Given the description of an element on the screen output the (x, y) to click on. 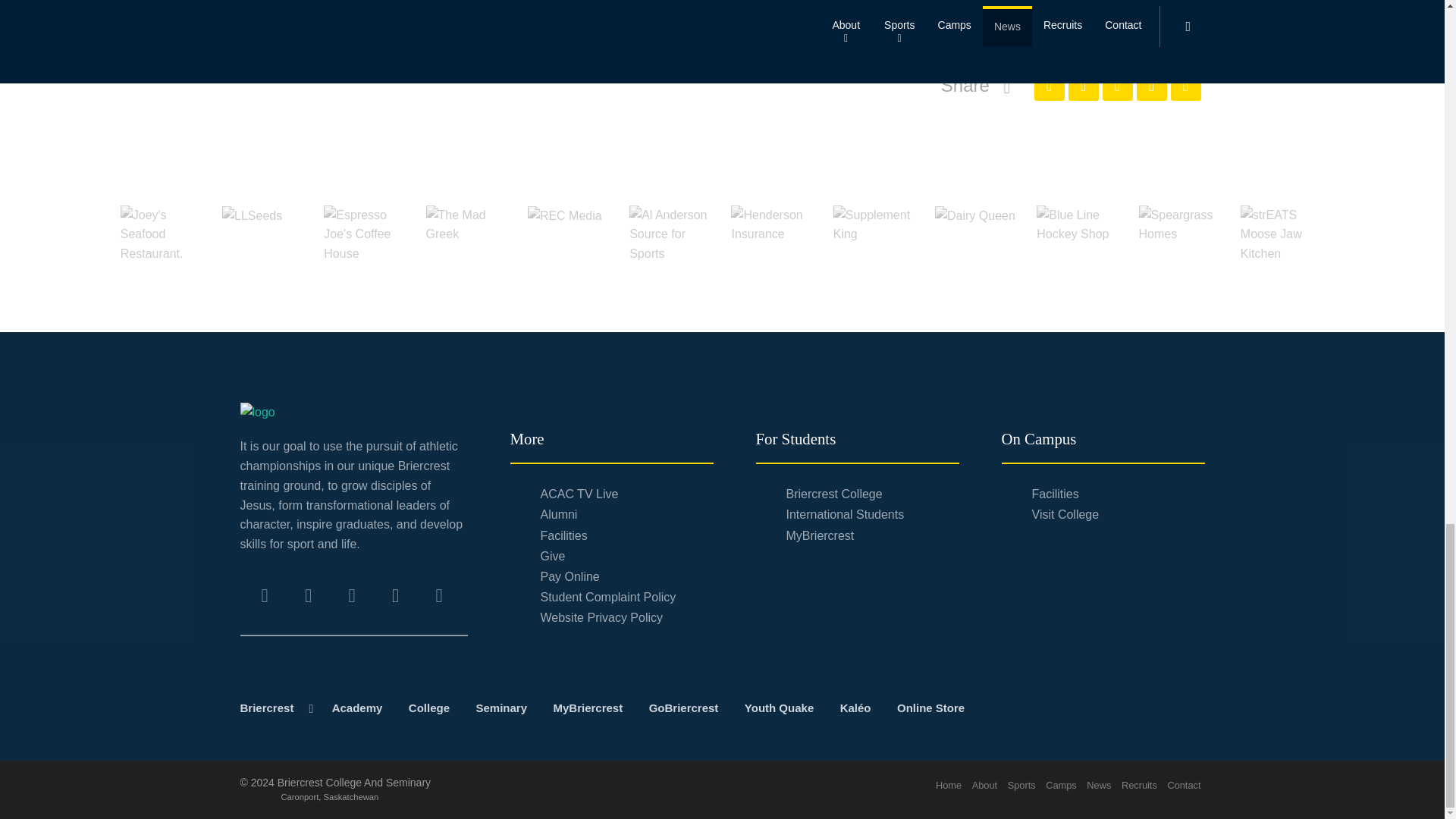
share this to my Facebook page (1048, 85)
email a link to this (1185, 85)
share this to my Twitter account (1082, 85)
share this to LinkedIn (1150, 85)
share this to Pinterest (1117, 85)
